Given the description of an element on the screen output the (x, y) to click on. 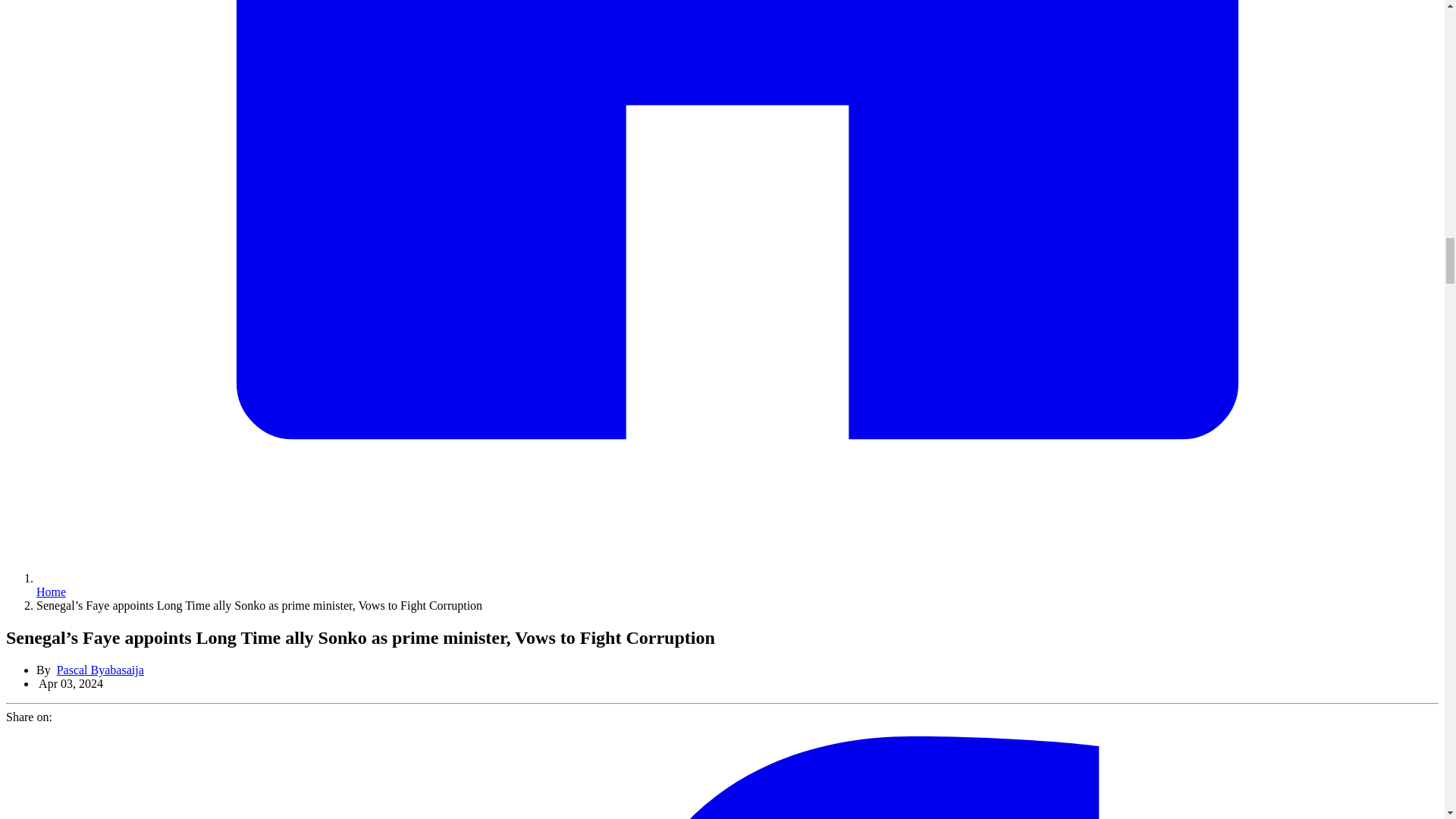
Home (50, 591)
Pascal Byabasaija (100, 669)
